Given the description of an element on the screen output the (x, y) to click on. 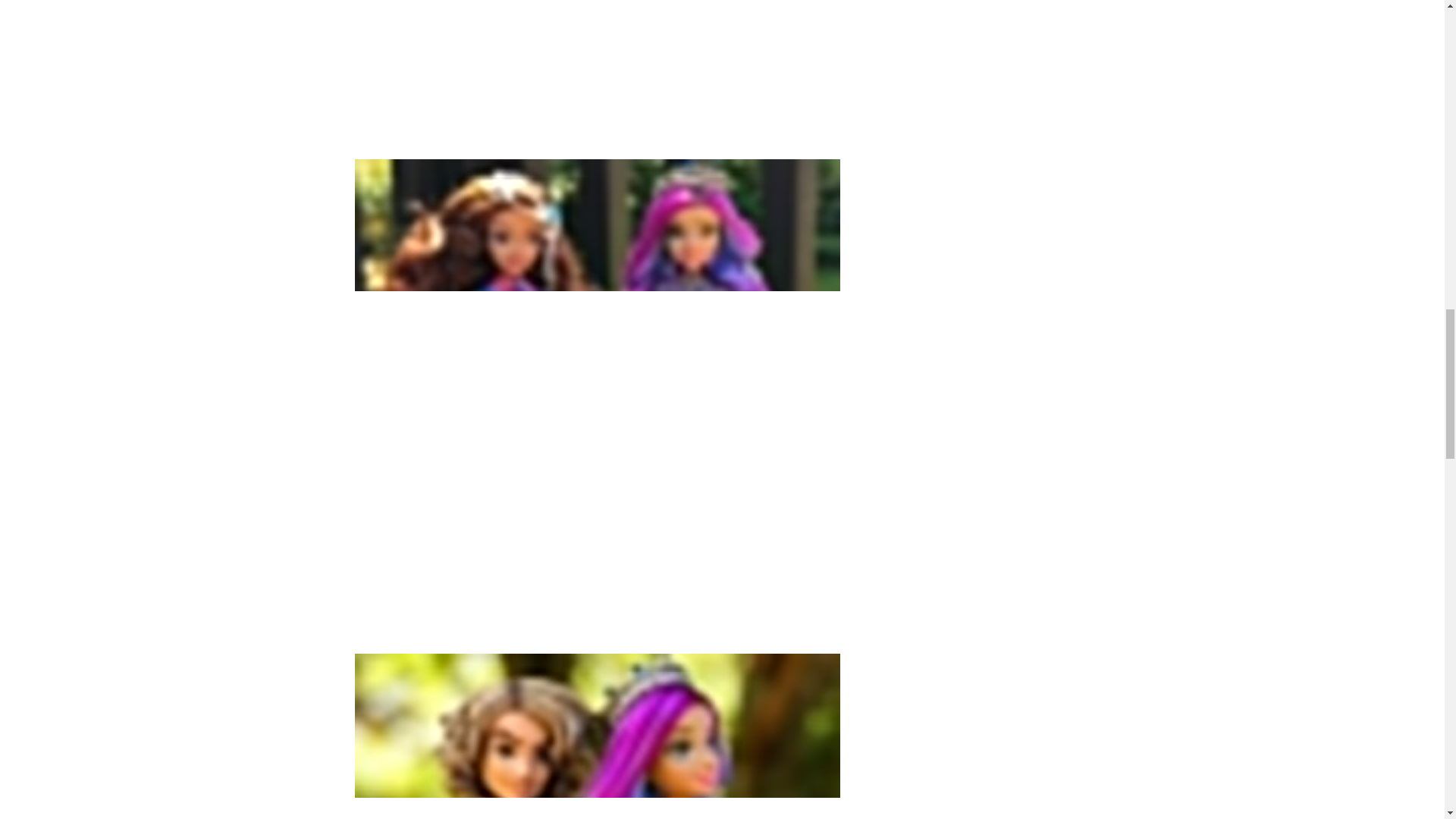
Disney Descendants 3 evil Audrey custom doll (597, 735)
Disney Descendants 3 evil Audrey custom doll (597, 75)
